Given the description of an element on the screen output the (x, y) to click on. 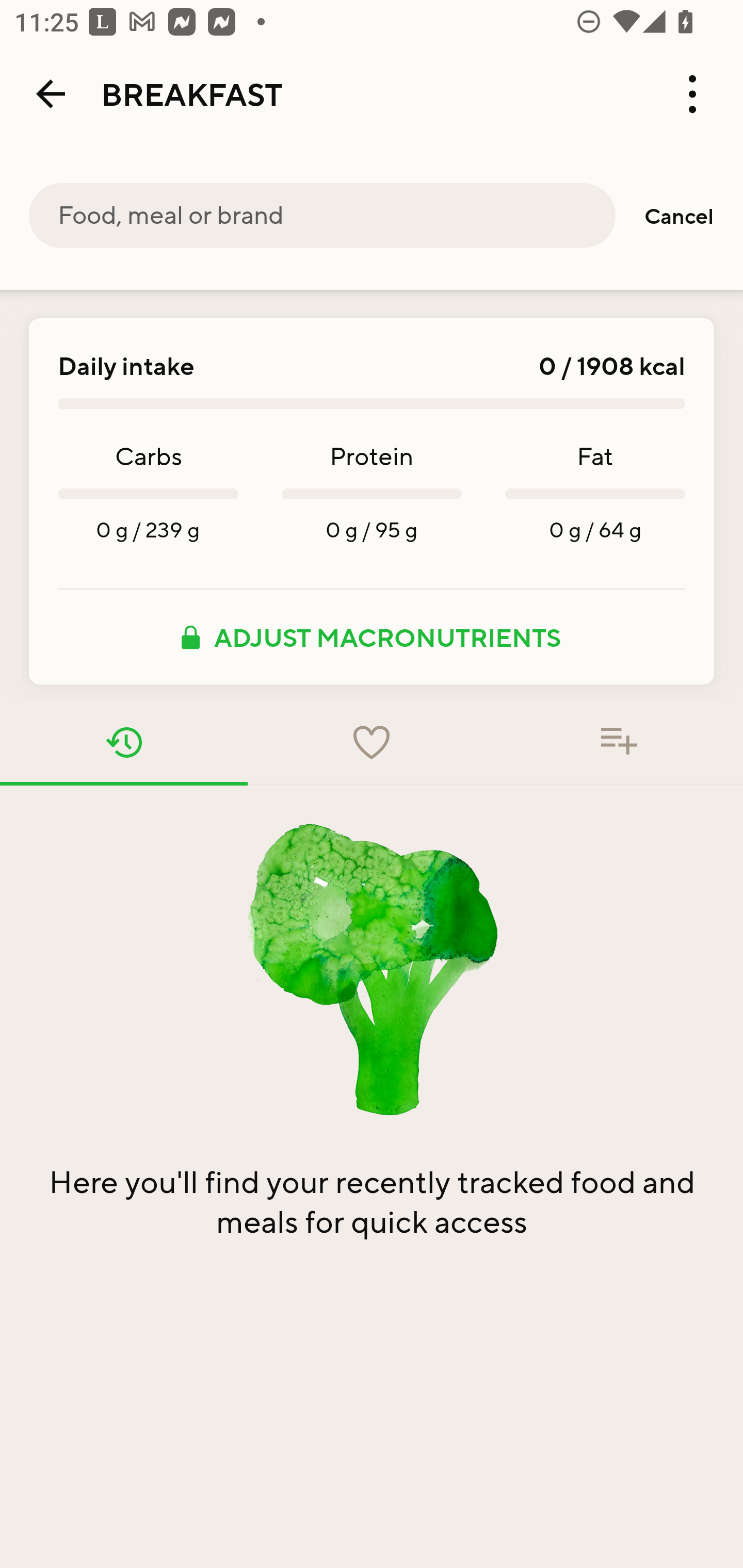
Back (50, 93)
Cancel (679, 215)
ADJUST MACRONUTRIENTS (371, 637)
Favorites (371, 742)
Food added (619, 742)
